Given the description of an element on the screen output the (x, y) to click on. 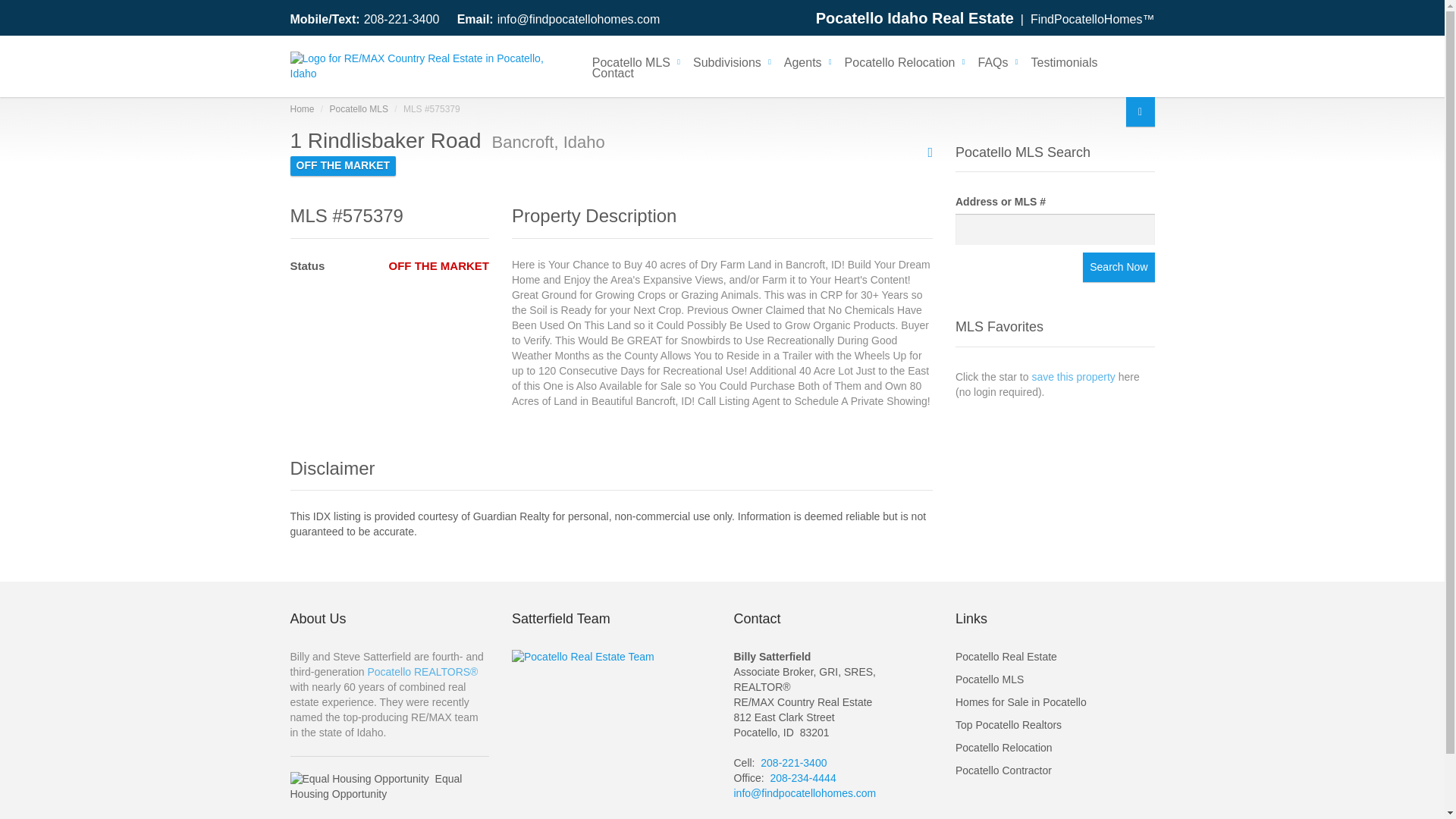
Subdivisions (727, 61)
Equal Housing Opportunity (358, 779)
Pocatello Idaho Real Estate (914, 17)
Pocatello Relocation (899, 61)
Pocatello MLS (630, 61)
Agents (802, 61)
Your Pocatello Real Estate Team (582, 657)
208-221-3400 (401, 19)
FAQs (992, 61)
